Given the description of an element on the screen output the (x, y) to click on. 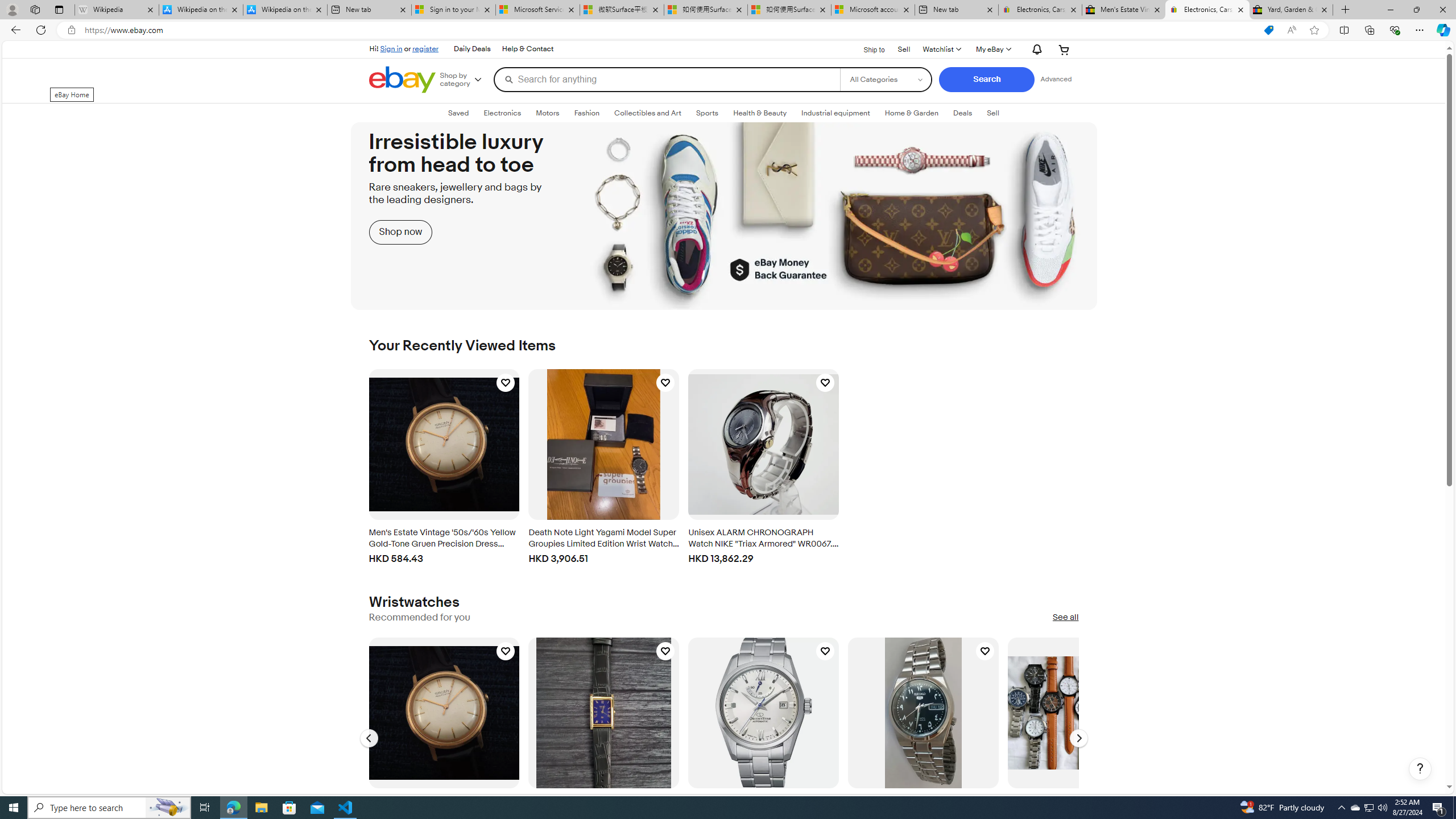
Health & Beauty (760, 112)
Yard, Garden & Outdoor Living (1291, 9)
Saved (458, 112)
Help, opens dialogs (1420, 768)
